Given the description of an element on the screen output the (x, y) to click on. 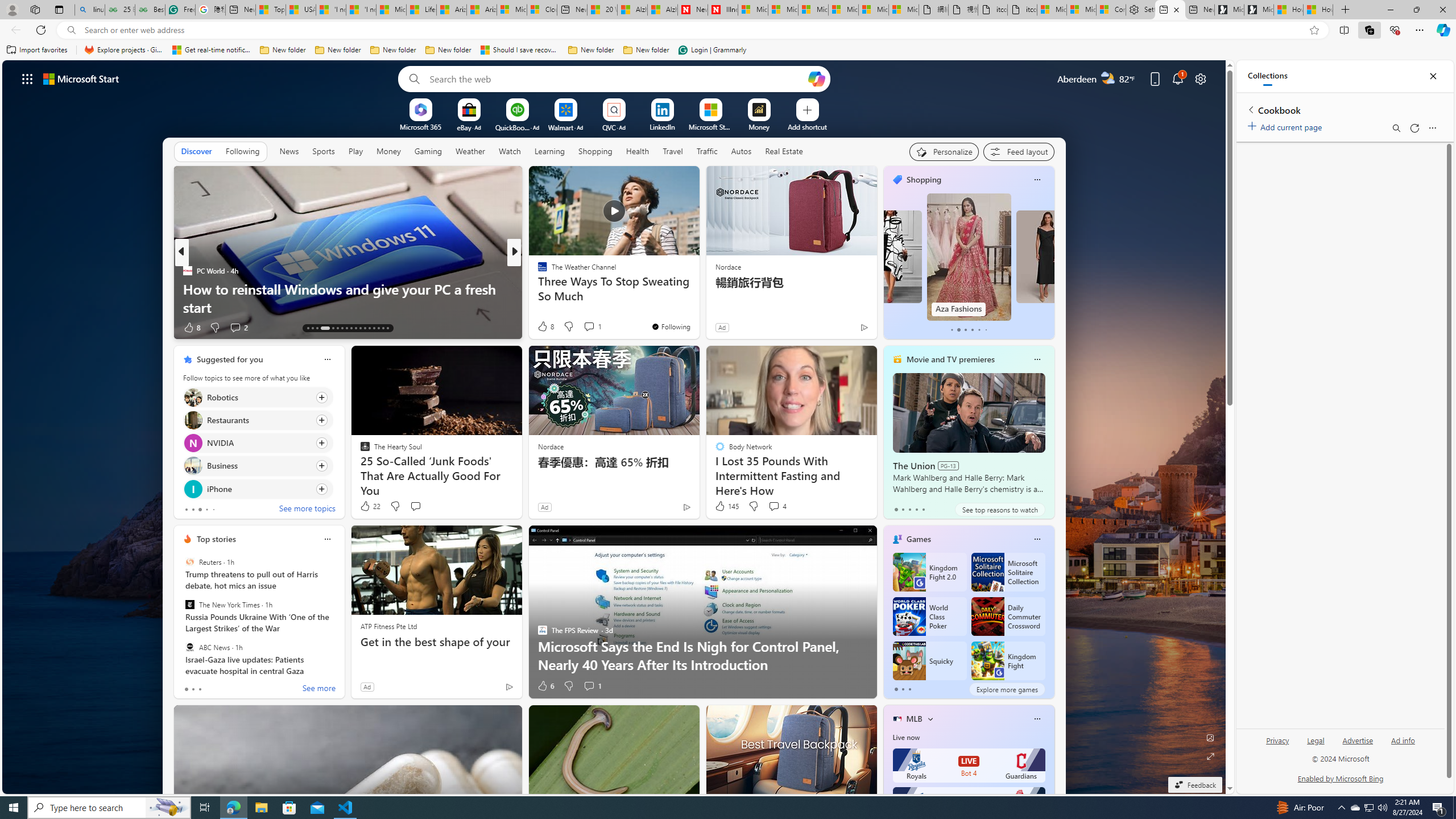
View comments 10 Comment (592, 327)
Play (355, 151)
Top Stories - MSN (270, 9)
Traffic (706, 151)
View comments 3 Comment (592, 327)
AutomationID: tab-21 (350, 328)
12 Healthy Habits That Could Help You Live Longer (697, 307)
AutomationID: tab-20 (346, 328)
Watch (509, 151)
Microsoft Start Gaming (1258, 9)
Add current page (1286, 124)
View comments 7 Comment (589, 327)
